Given the description of an element on the screen output the (x, y) to click on. 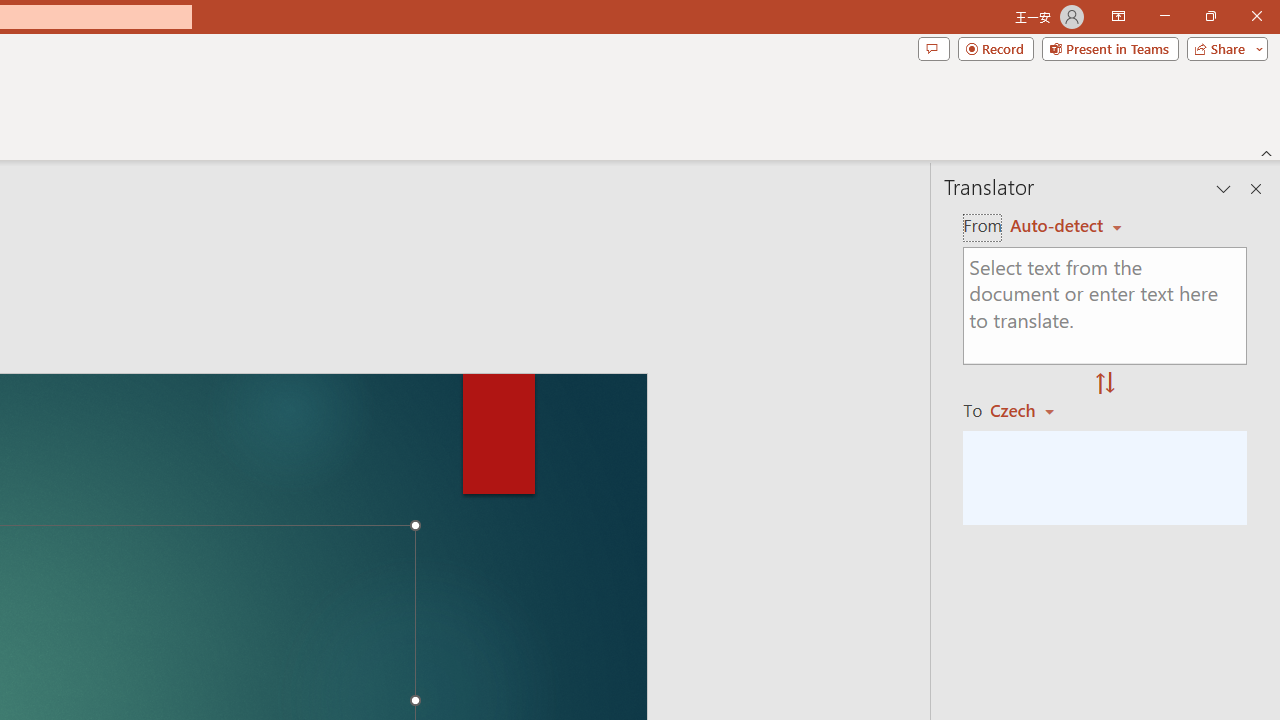
Close (1256, 16)
Collapse the Ribbon (1267, 152)
Close pane (1256, 188)
